Given the description of an element on the screen output the (x, y) to click on. 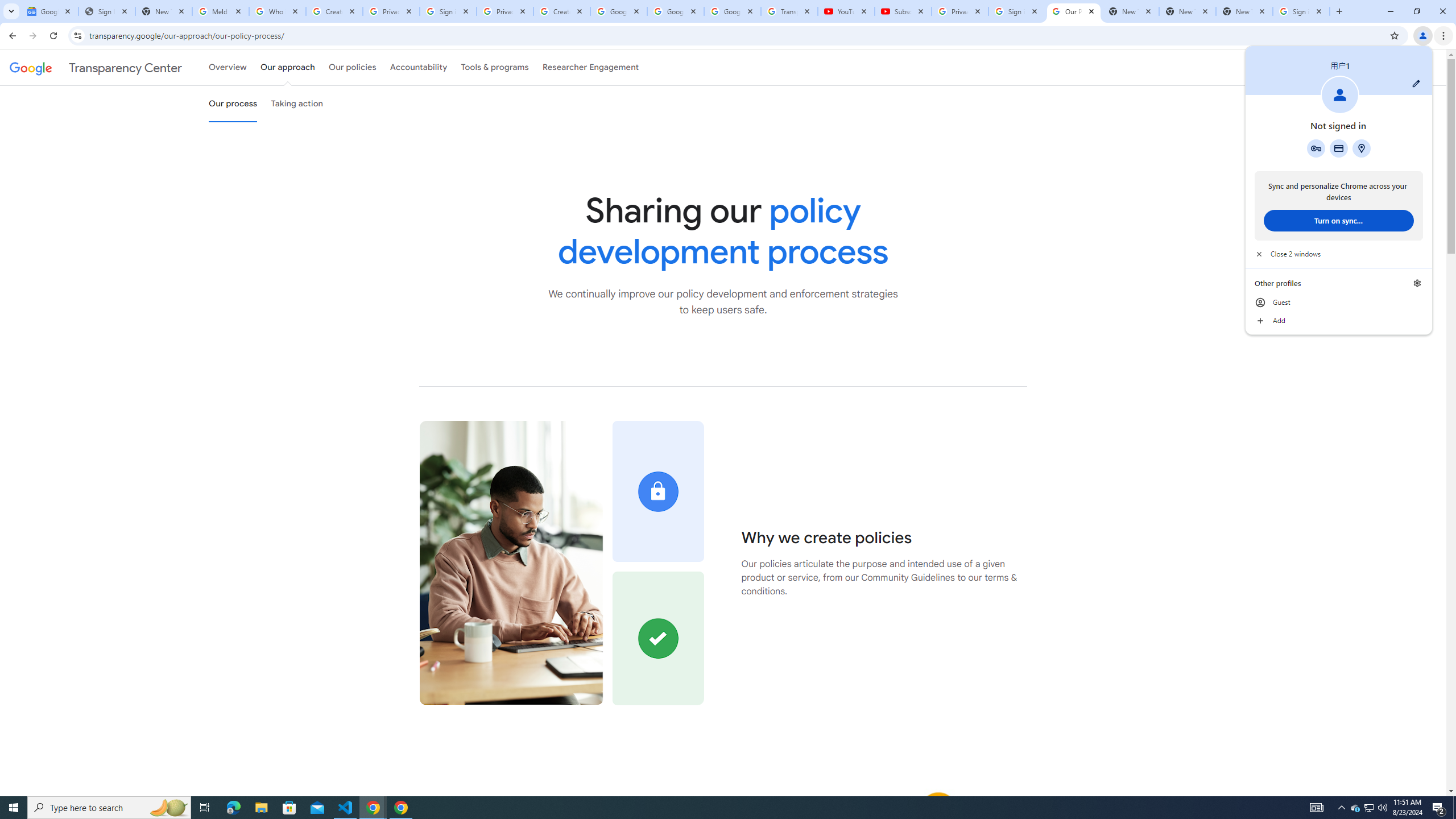
Researcher Engagement (590, 67)
Microsoft Edge (233, 807)
Who is my administrator? - Google Account Help (277, 11)
Our process (232, 103)
Sign in - Google Accounts (1015, 11)
Sign in - Google Accounts (1301, 11)
